Given the description of an element on the screen output the (x, y) to click on. 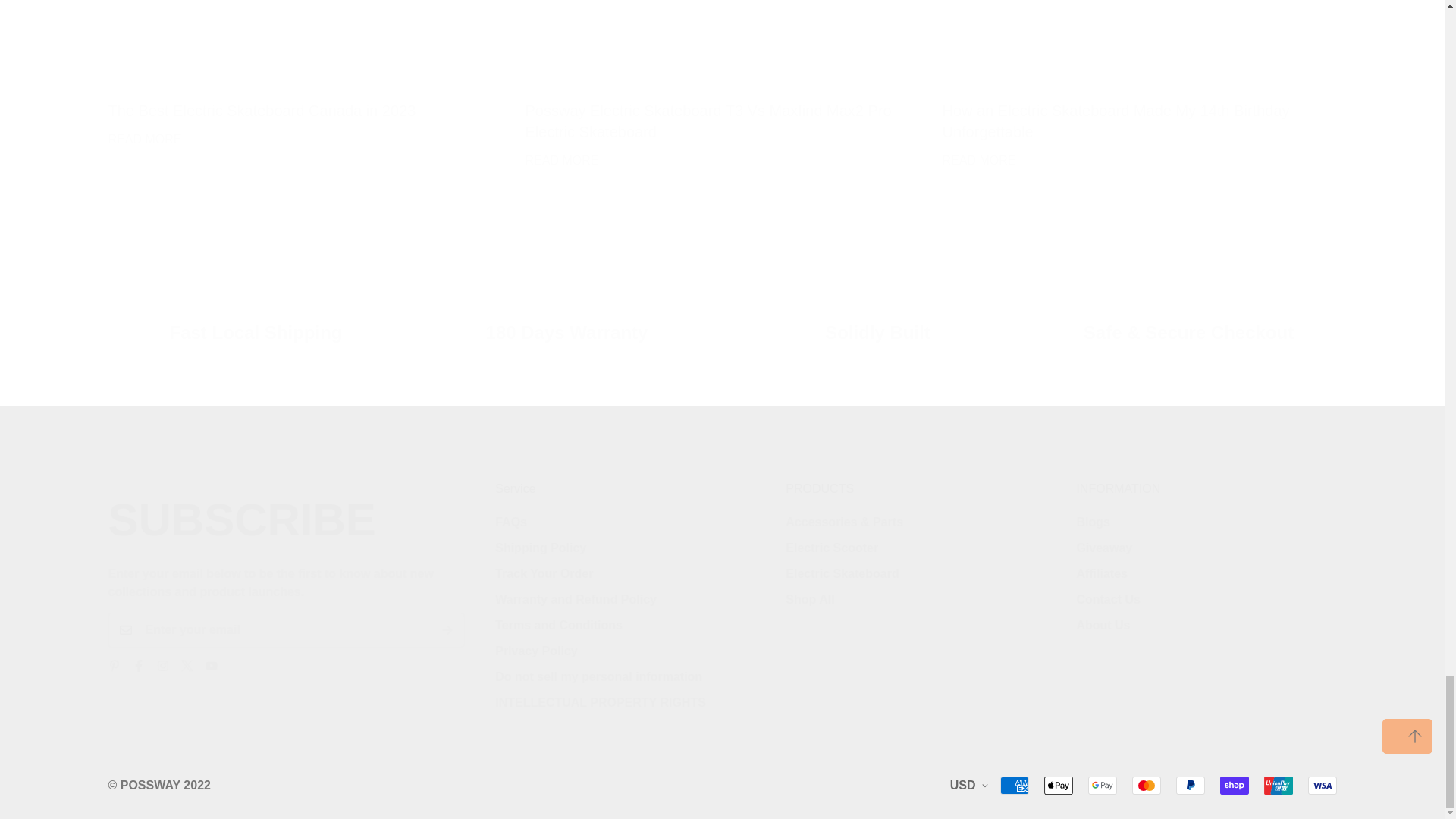
180 Days Warranty (1206, 559)
Fast Local Shipping (566, 296)
Solidly Built (304, 75)
